Given the description of an element on the screen output the (x, y) to click on. 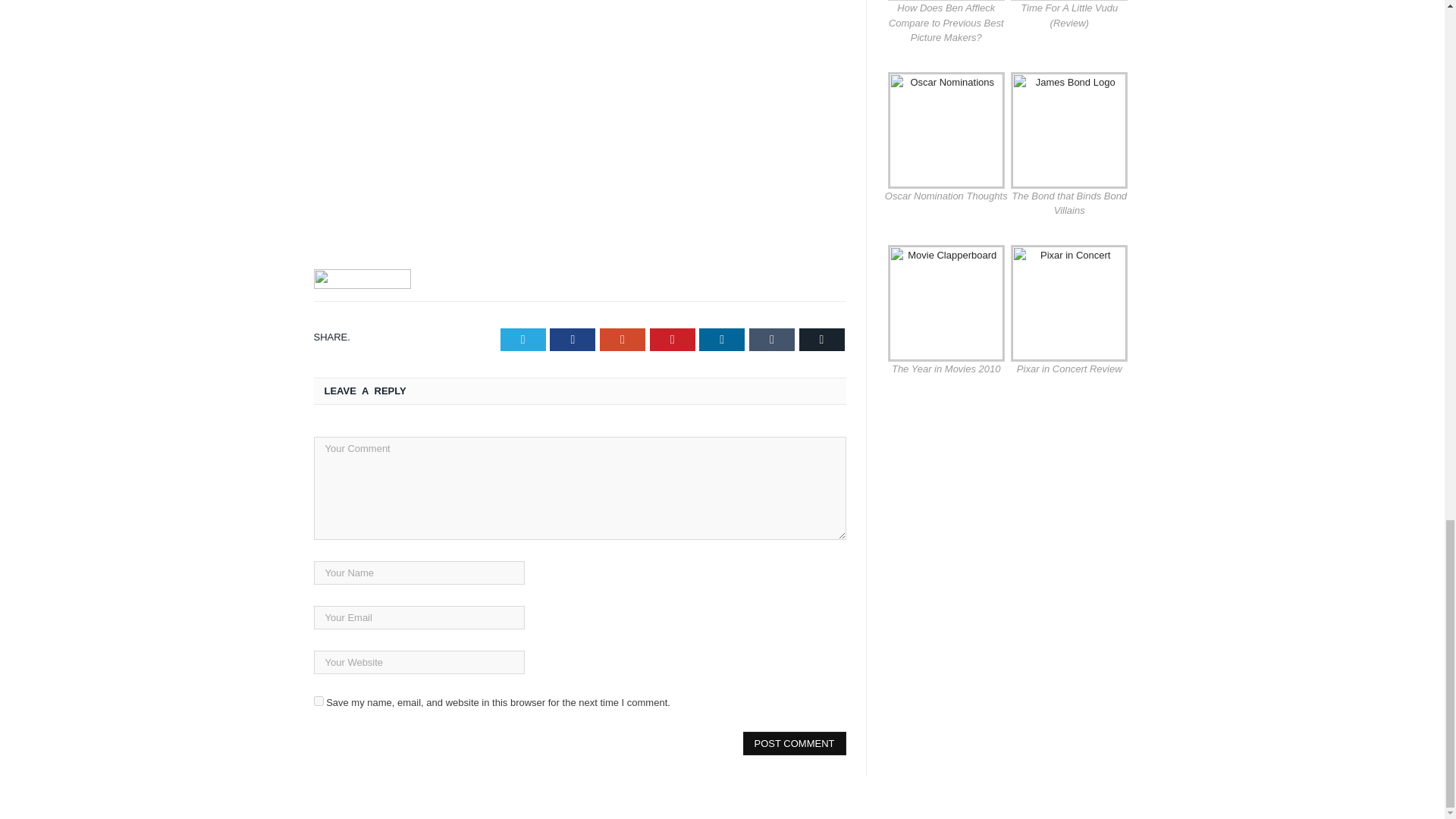
Share on Pinterest (672, 339)
Twitter (523, 339)
Share on LinkedIn (721, 339)
Tweet It (523, 339)
slashcomment white signature (362, 279)
Post Comment (793, 743)
Share on Tumblr (771, 339)
Facebook (572, 339)
Share on Facebook (572, 339)
Share via Email (821, 339)
yes (318, 700)
